Given the description of an element on the screen output the (x, y) to click on. 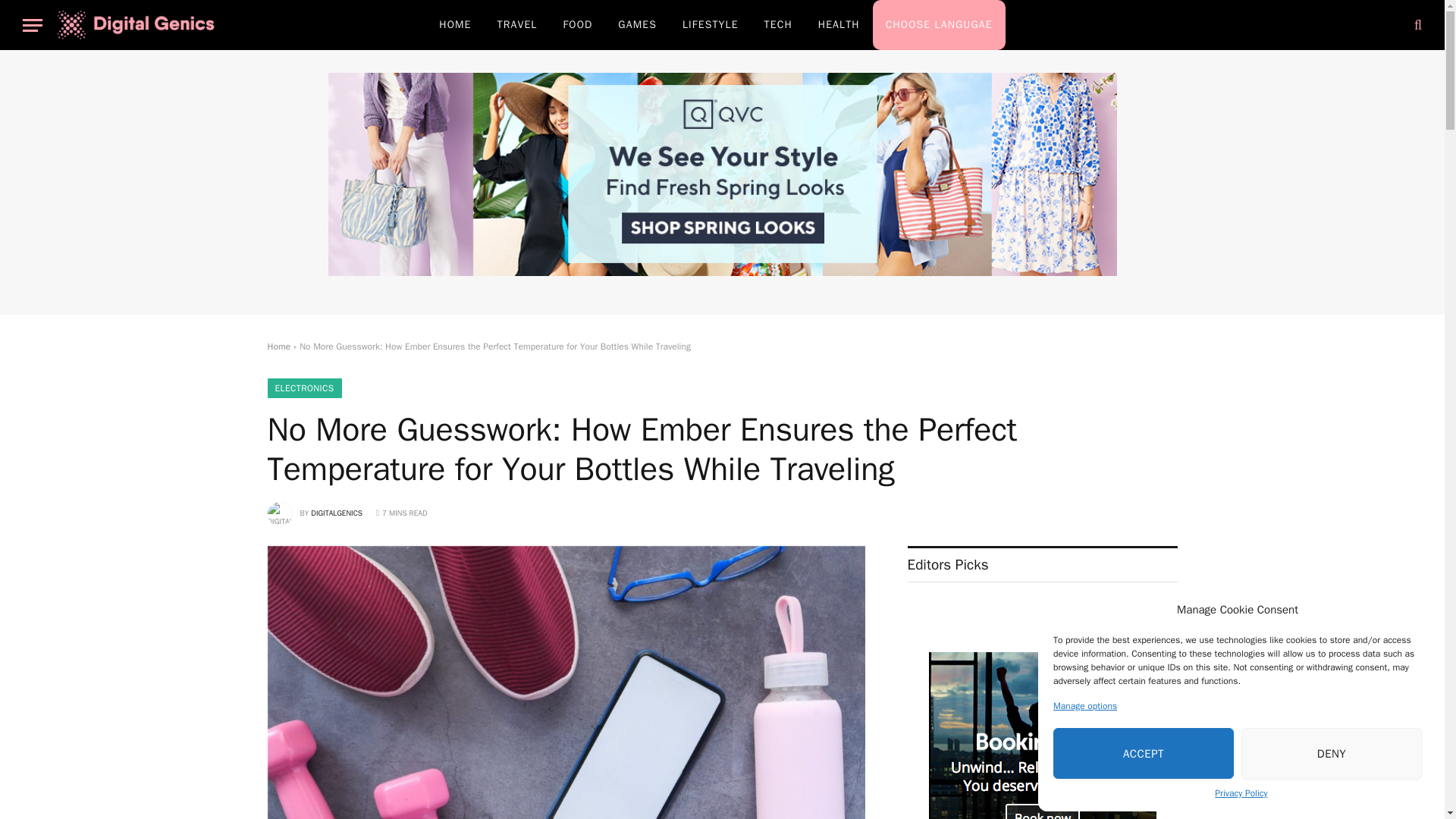
DENY (1331, 753)
HEALTH (838, 24)
Posts by Digitalgenics (336, 512)
LIFESTYLE (710, 24)
TRAVEL (517, 24)
FOOD (577, 24)
HOME (454, 24)
GAMES (637, 24)
CHOOSE LANGUGAE (939, 24)
Digital Genics (135, 24)
ACCEPT (1142, 753)
TECH (778, 24)
Manage options (1084, 705)
Privacy Policy (1240, 793)
